Given the description of an element on the screen output the (x, y) to click on. 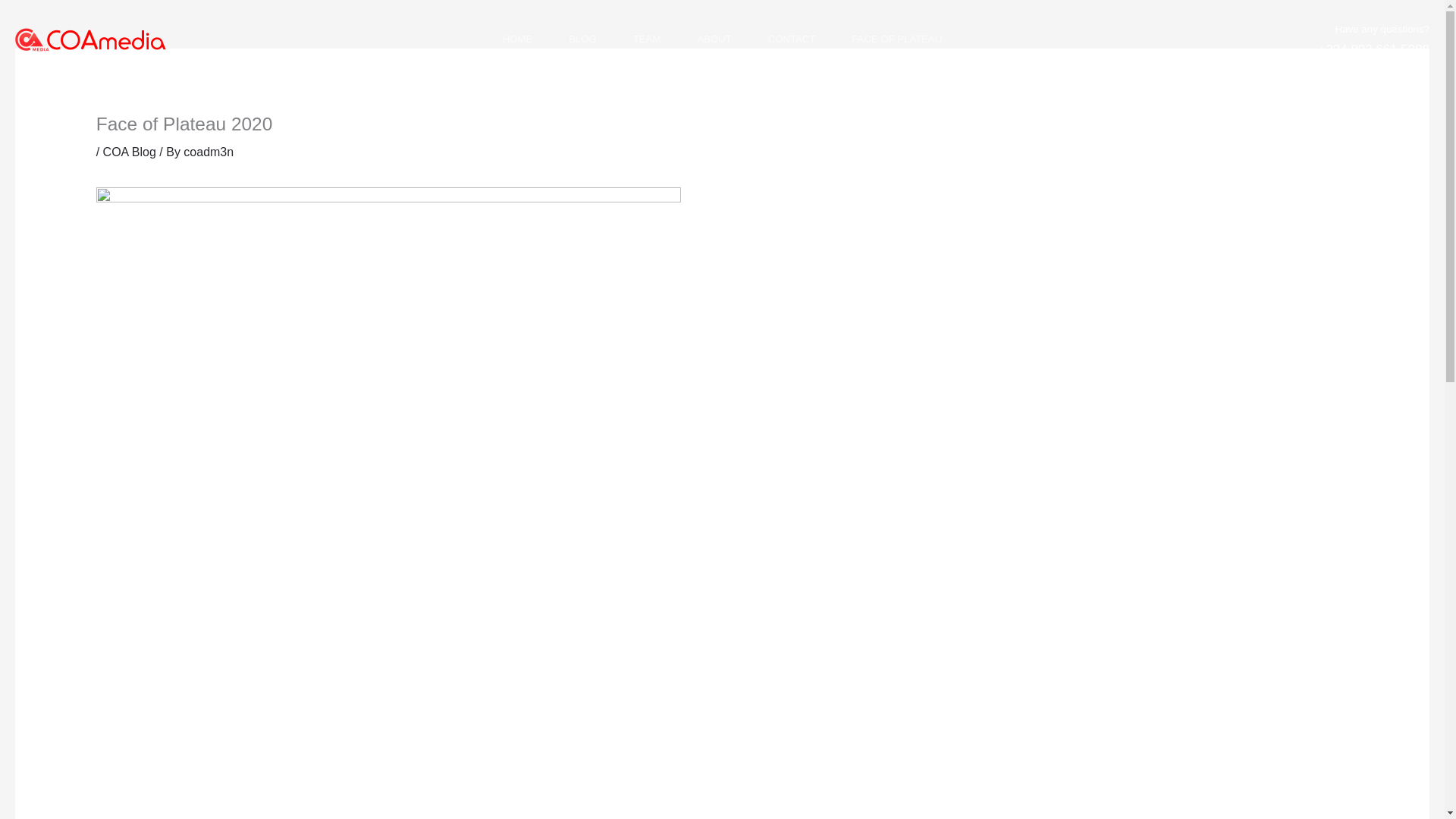
View all posts by coadm3n (207, 151)
FACE OF PLATEAU (895, 39)
ABOUT (713, 39)
CONTACT (791, 39)
coadm3n (207, 151)
COA Blog (129, 151)
